Given the description of an element on the screen output the (x, y) to click on. 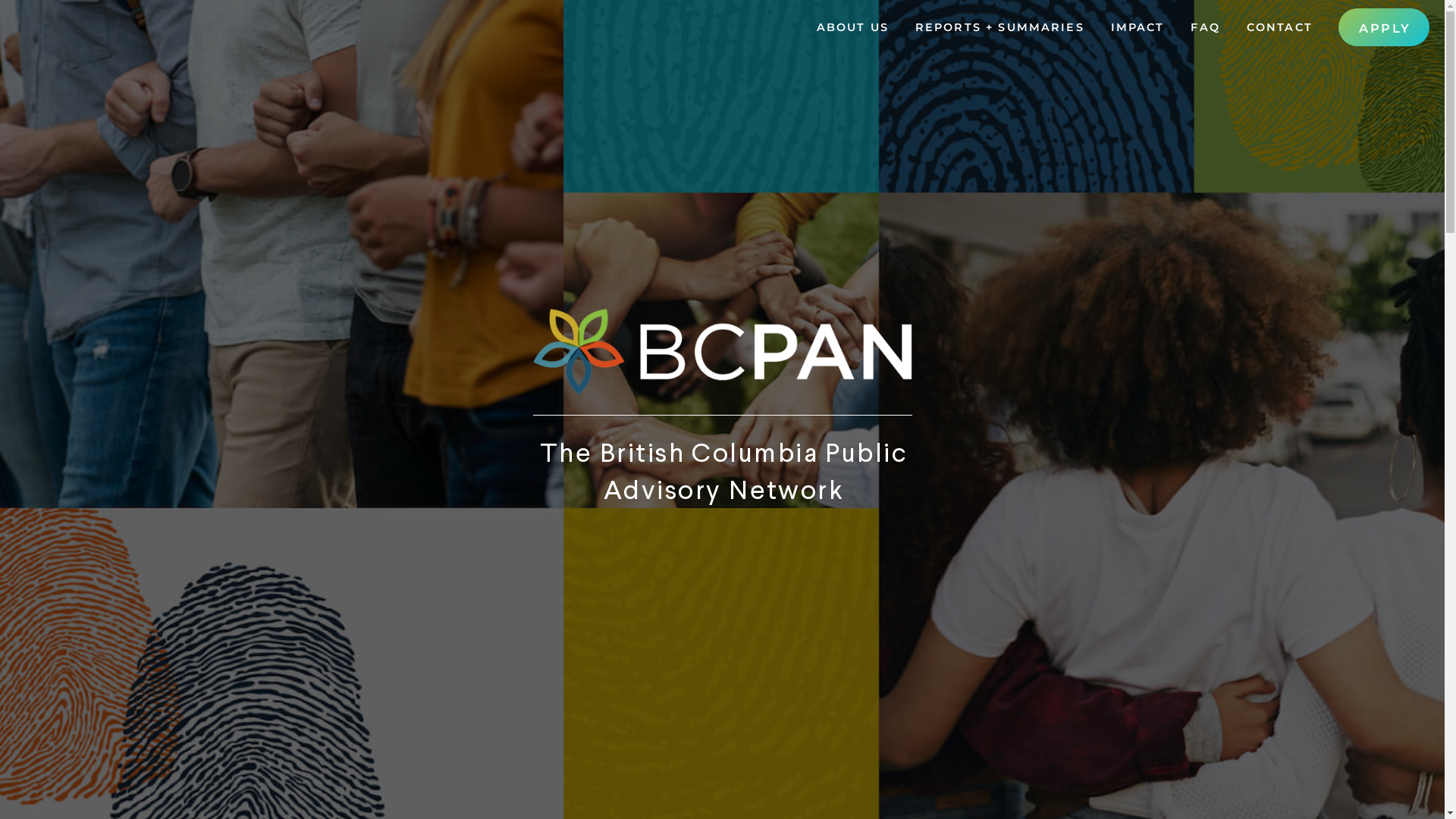
APPLY Element type: text (1383, 26)
FAQ Element type: text (1204, 26)
REPORTS + SUMMARIES Element type: text (998, 26)
ABOUT US Element type: text (851, 26)
CONTACT Element type: text (1278, 26)
IMPACT Element type: text (1136, 26)
